Given the description of an element on the screen output the (x, y) to click on. 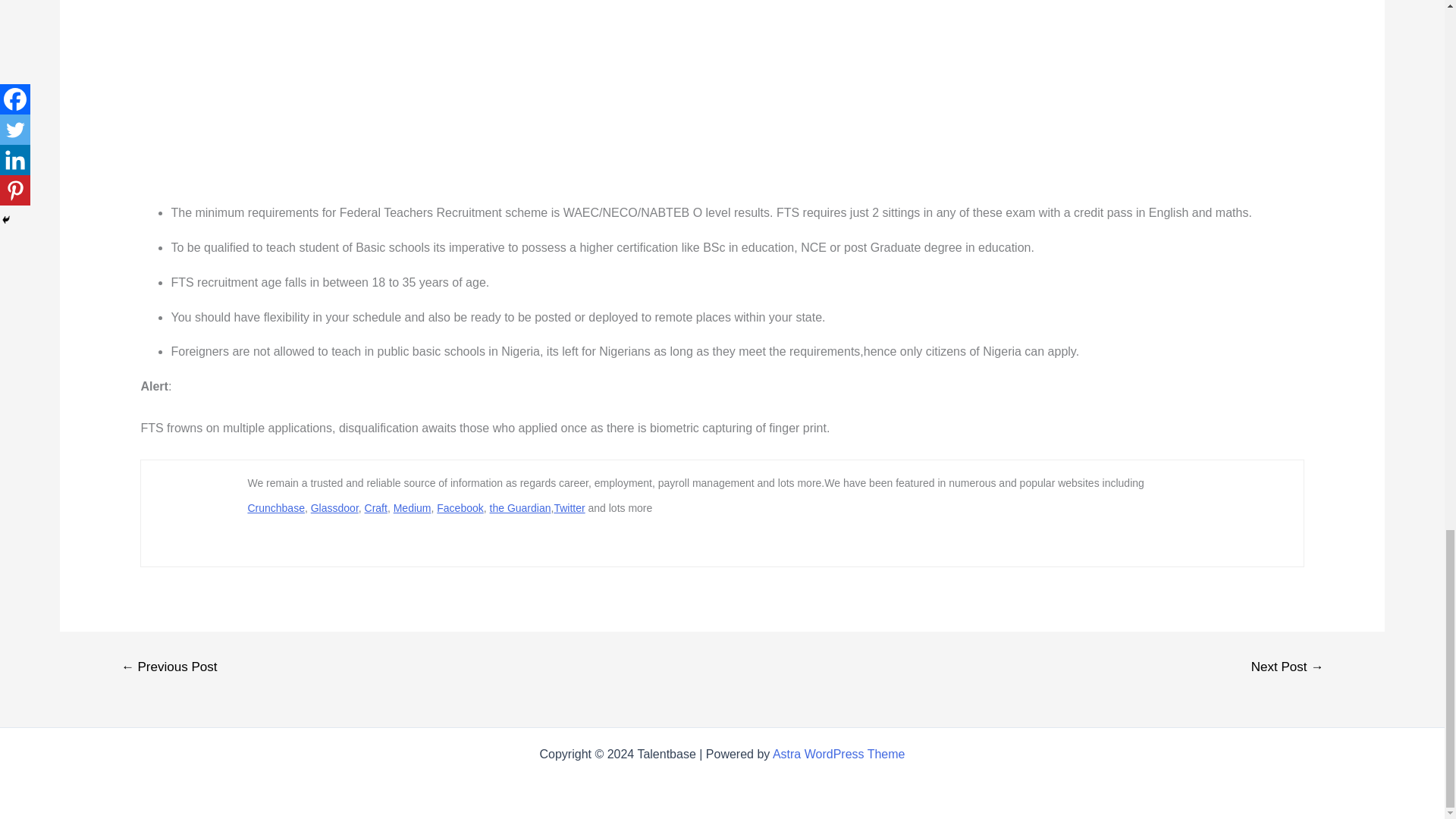
Crunchbase (275, 508)
Twitter (569, 508)
Craft (376, 508)
Facebook (459, 508)
the Guardian (520, 508)
Glassdoor (334, 508)
Medium (411, 508)
